Given the description of an element on the screen output the (x, y) to click on. 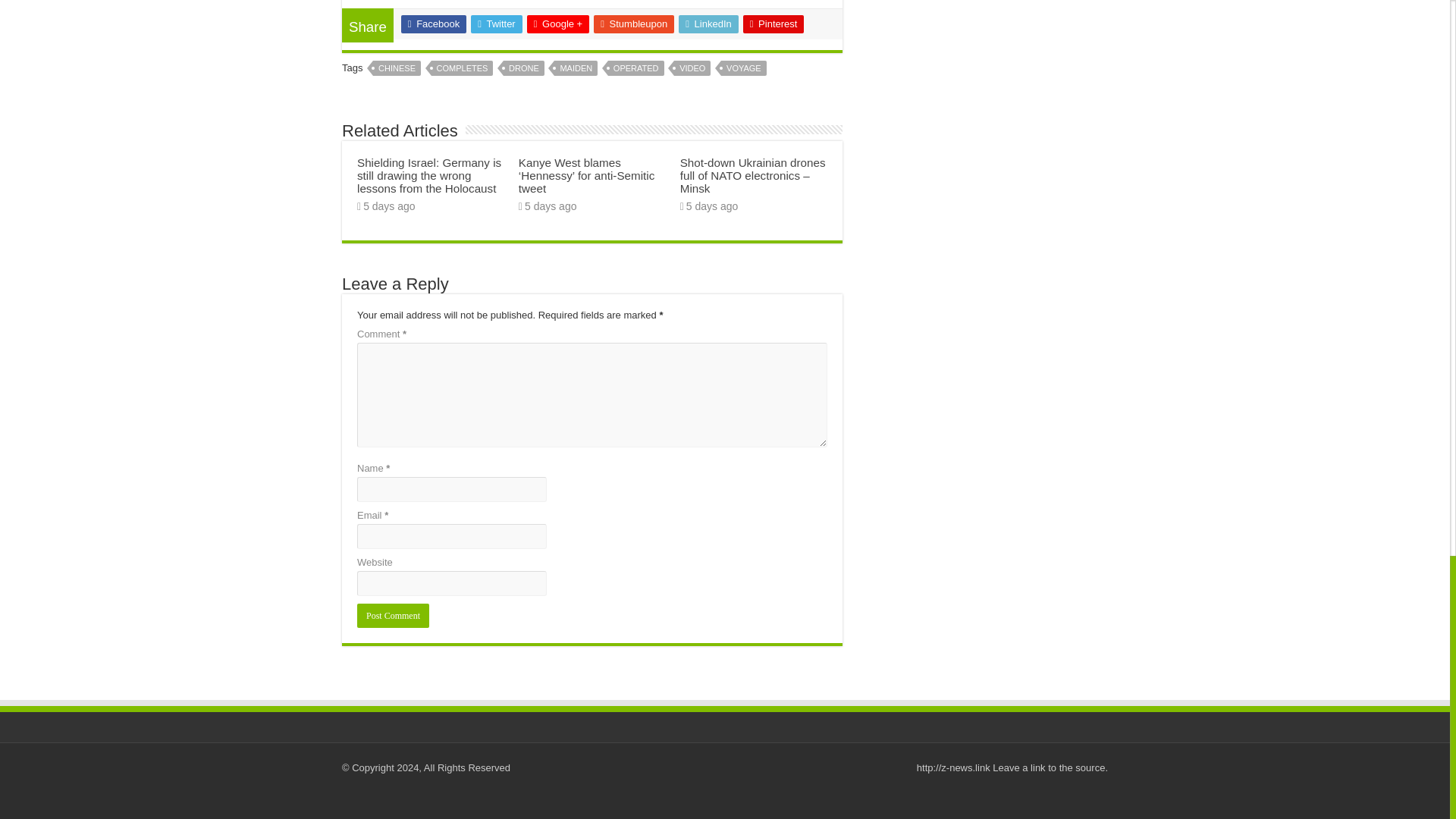
Stumbleupon (634, 24)
COMPLETES (461, 68)
Twitter (495, 24)
Post Comment (392, 615)
Pinterest (773, 24)
CHINESE (396, 68)
DRONE (523, 68)
MAIDEN (575, 68)
Facebook (433, 24)
LinkedIn (708, 24)
